Given the description of an element on the screen output the (x, y) to click on. 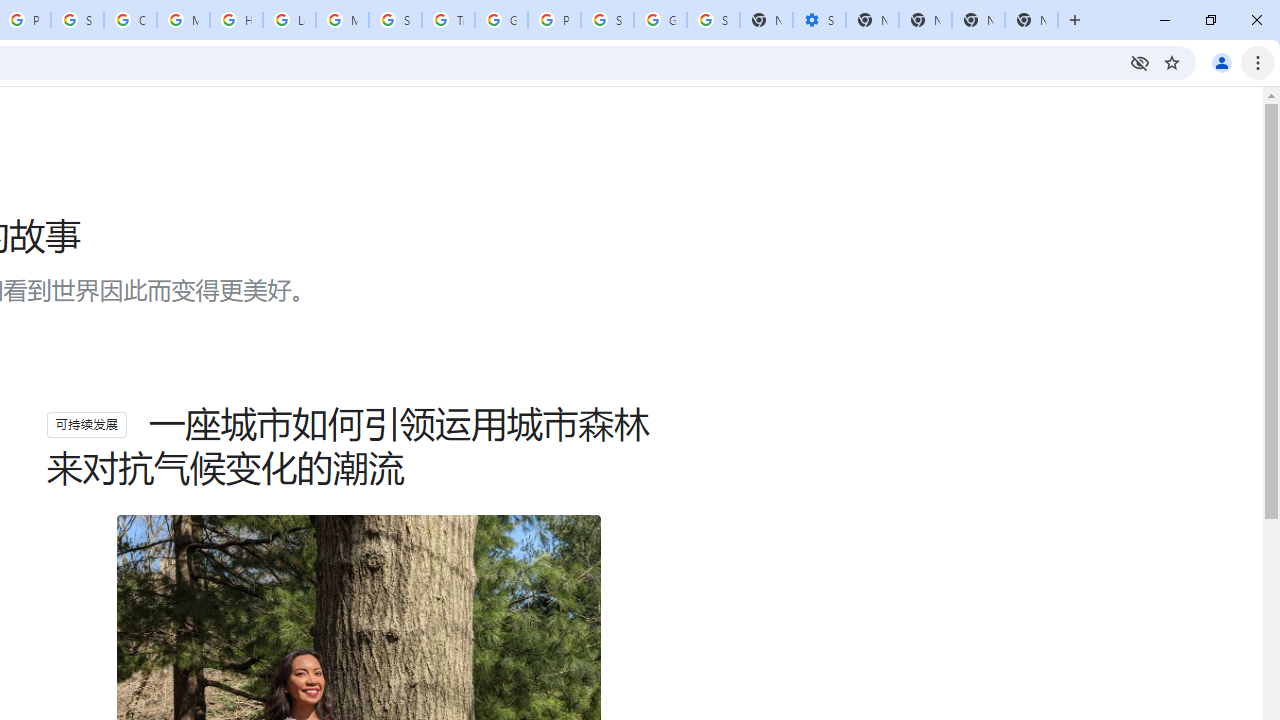
Search our Doodle Library Collection - Google Doodles (395, 20)
Google Cybersecurity Innovations - Google Safety Center (660, 20)
Settings - Performance (819, 20)
New Tab (1031, 20)
